Given the description of an element on the screen output the (x, y) to click on. 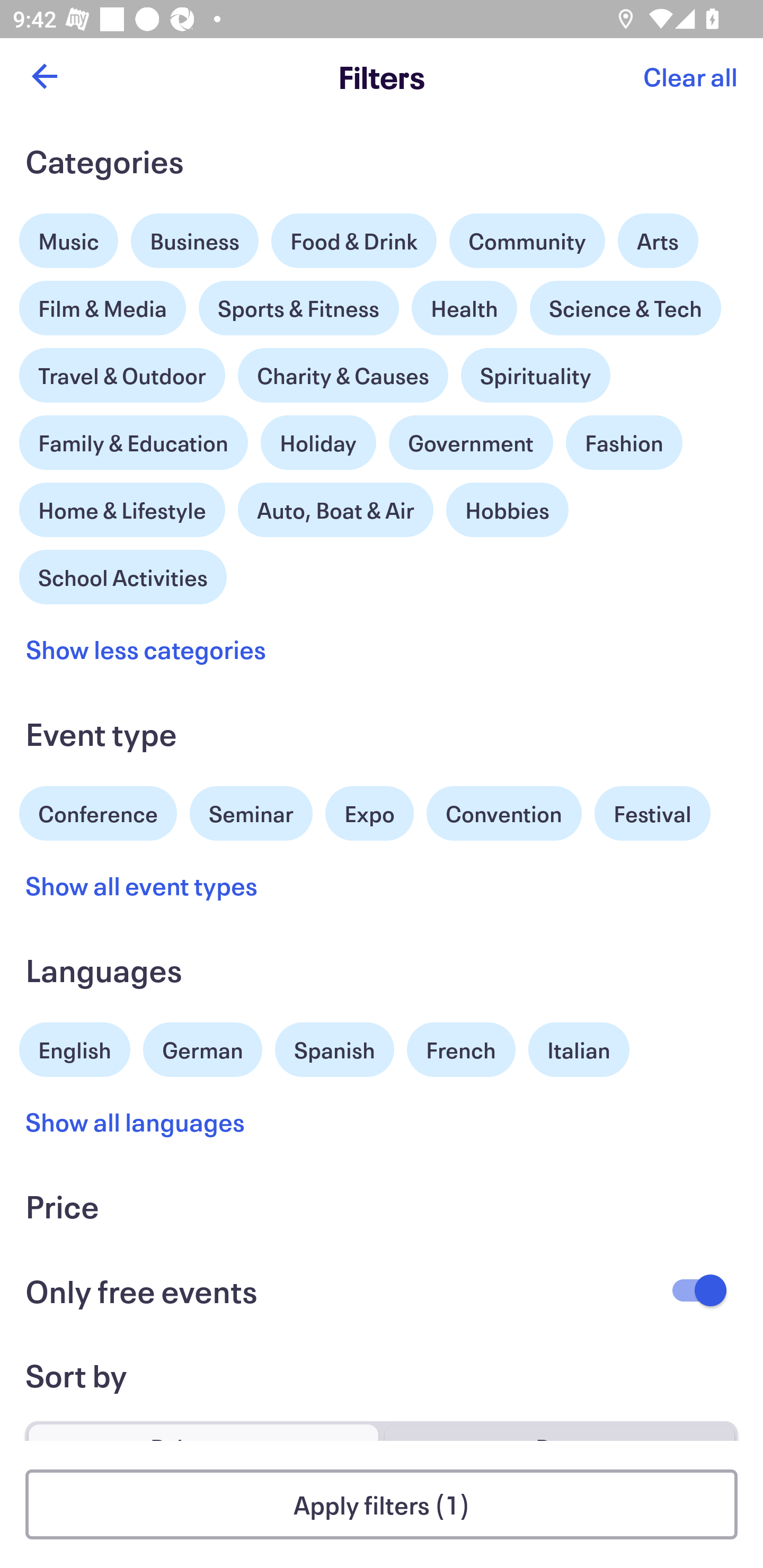
Back button (44, 75)
Clear all (690, 75)
Music (68, 235)
Business (194, 240)
Food & Drink (353, 240)
Community (527, 240)
Arts (658, 235)
Film & Media (102, 303)
Sports & Fitness (298, 307)
Health (464, 307)
Science & Tech (625, 307)
Travel & Outdoor (122, 370)
Charity & Causes (343, 375)
Spirituality (535, 375)
Family & Education (133, 442)
Holiday (318, 437)
Government (471, 442)
Fashion (624, 442)
Home & Lifestyle (122, 505)
Auto, Boat & Air (335, 509)
Hobbies (507, 509)
School Activities (122, 575)
Show less categories (145, 648)
Conference (98, 811)
Seminar (250, 813)
Expo (369, 813)
Convention (503, 813)
Festival (652, 813)
Show all event types (141, 884)
English (74, 1047)
German (202, 1047)
Spanish (334, 1049)
French (460, 1049)
Italian (578, 1049)
Show all languages (135, 1121)
Relevance (203, 1424)
Date (559, 1424)
Apply filters (1) (381, 1504)
